Given the description of an element on the screen output the (x, y) to click on. 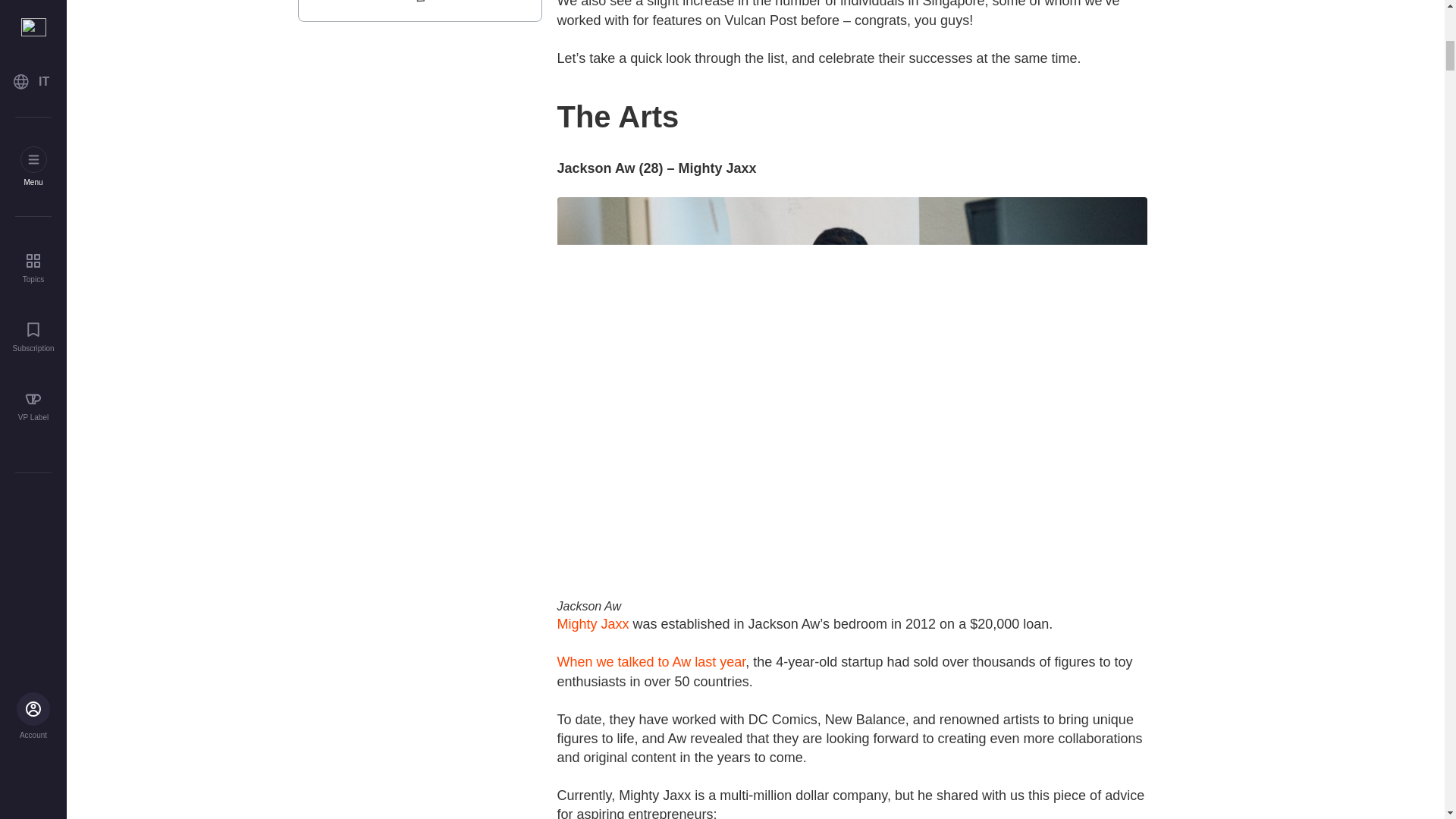
Mighty Jaxx (592, 623)
When we talked to Aw last year (650, 661)
